Given the description of an element on the screen output the (x, y) to click on. 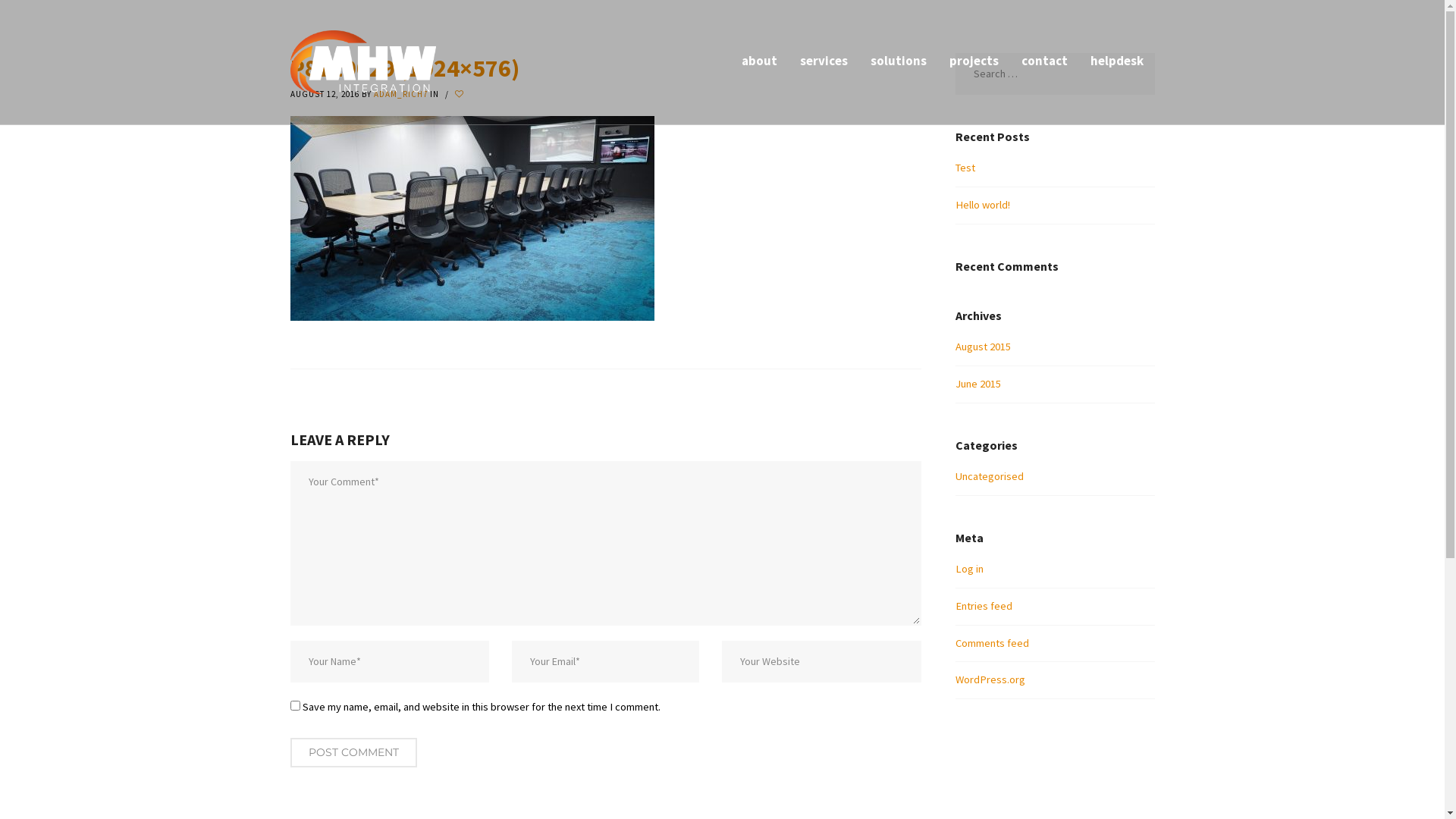
Post Comment Element type: text (352, 752)
June 2015 Element type: text (978, 383)
WordPress.org Element type: text (990, 679)
projects Element type: text (973, 62)
Uncategorised Element type: text (989, 476)
August 2015 Element type: text (982, 346)
about Element type: text (758, 62)
Test Element type: text (965, 167)
helpdesk Element type: text (1116, 62)
contact Element type: text (1044, 62)
  Element type: text (460, 93)
ADAM_RICH7 Element type: text (399, 93)
Entries feed Element type: text (983, 605)
Hello world! Element type: text (982, 204)
Search Element type: text (40, 14)
services Element type: text (823, 62)
Like Element type: hover (460, 93)
Comments feed Element type: text (992, 642)
solutions Element type: text (897, 62)
Log in Element type: text (969, 568)
